Given the description of an element on the screen output the (x, y) to click on. 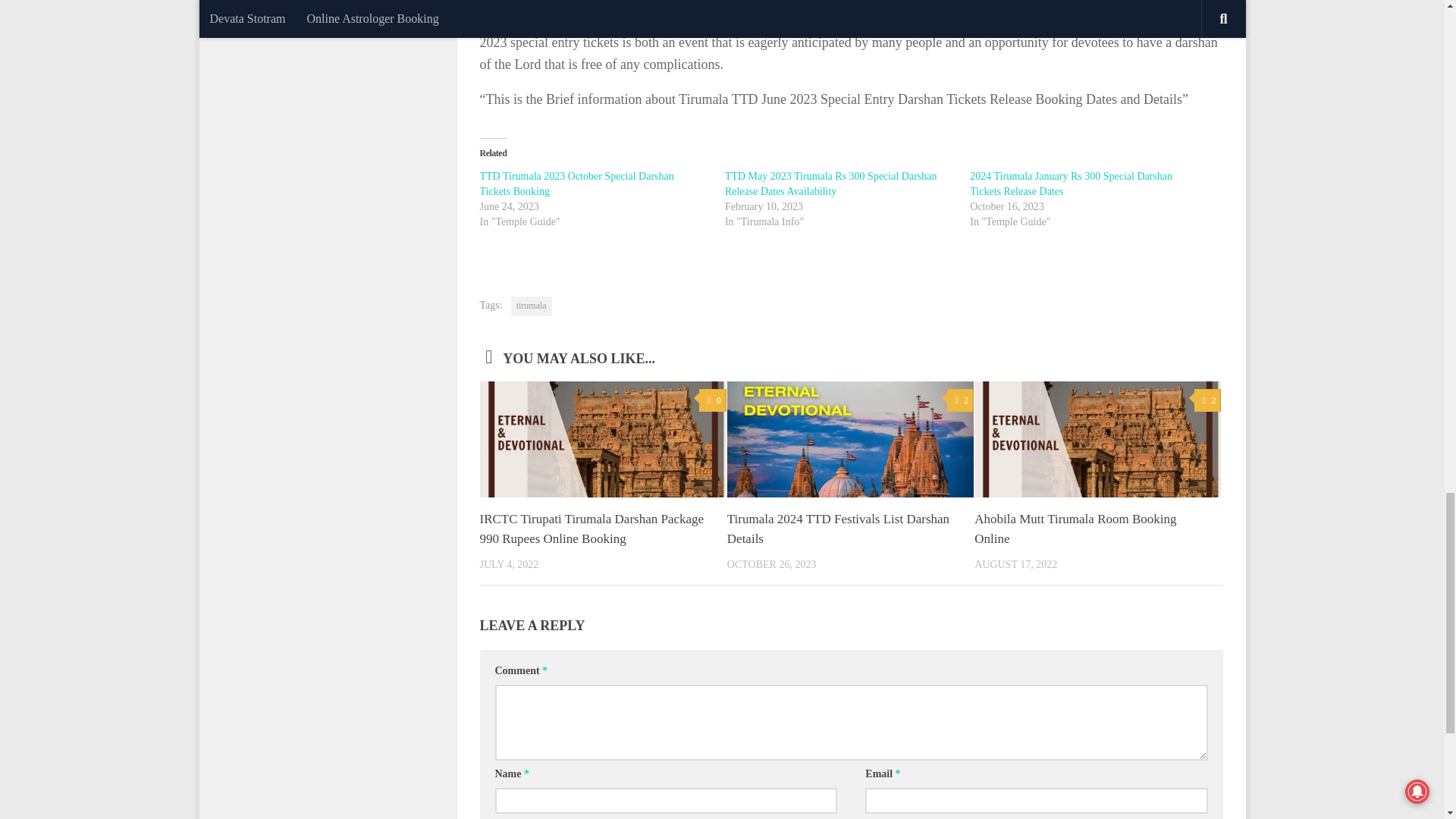
TTD Tirumala 2023 October Special Darshan Tickets Booking (575, 183)
2 (1207, 400)
0 (711, 400)
Ahobila Mutt Tirumala Room Booking Online (1075, 528)
TTD Tirumala 2023 October Special Darshan Tickets Booking (575, 183)
2 (960, 400)
Tirumala 2024 TTD Festivals List Darshan Details (837, 528)
tirumala (531, 306)
